Given the description of an element on the screen output the (x, y) to click on. 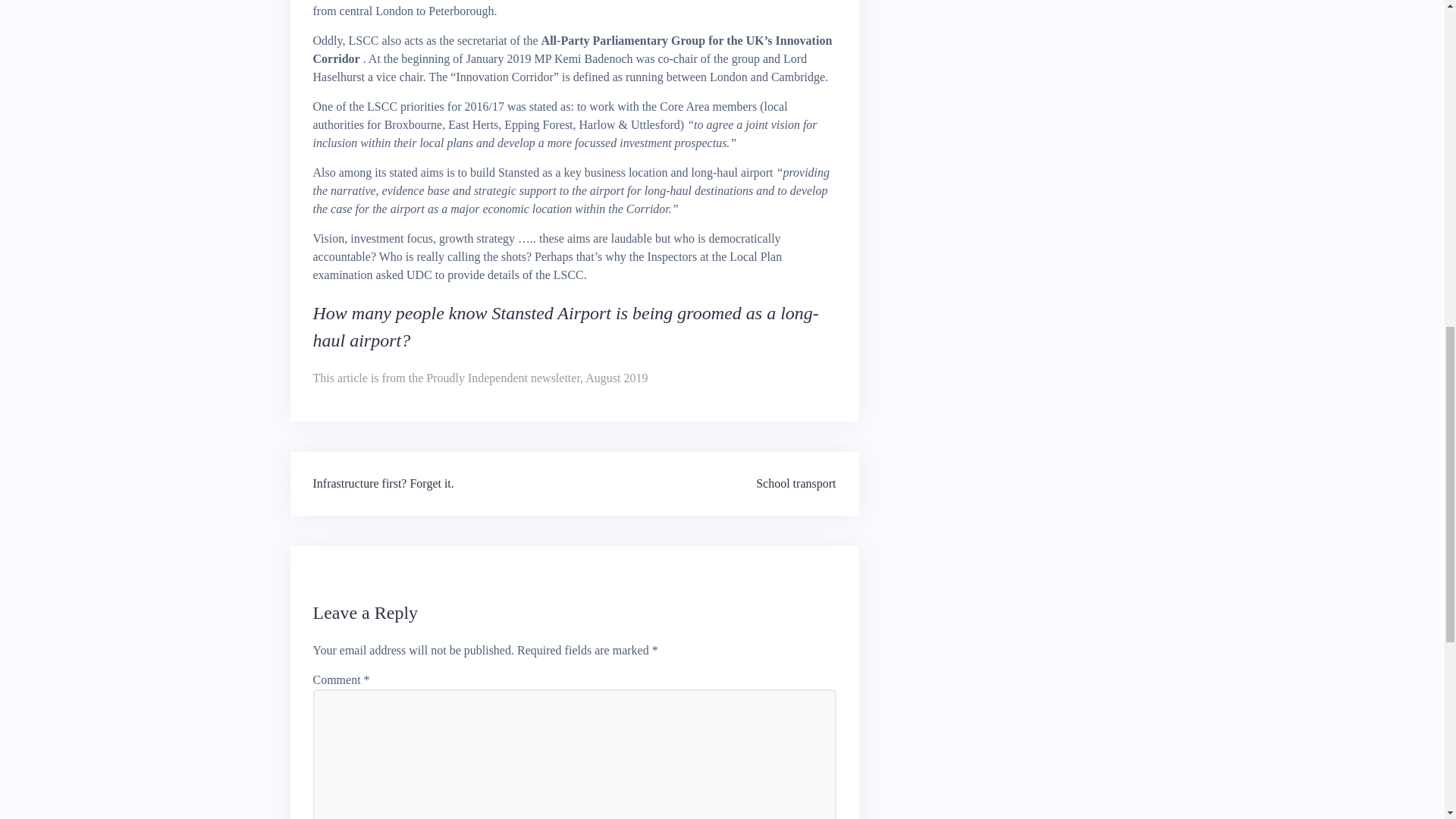
Infrastructure first? Forget it. (382, 482)
School transport (795, 482)
